Given the description of an element on the screen output the (x, y) to click on. 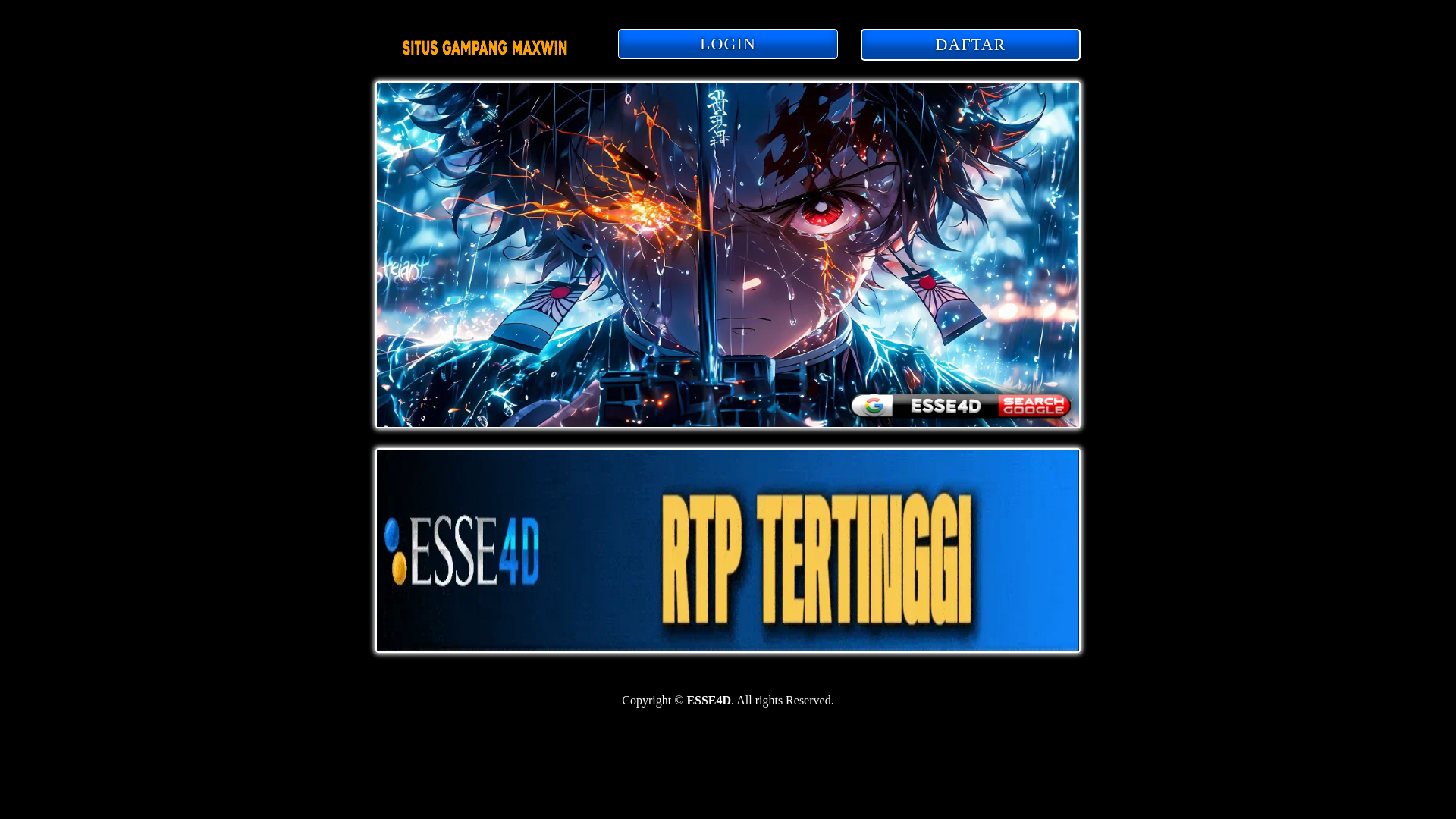
DAFTAR (970, 44)
LOGIN (727, 43)
LOGIN (727, 44)
DAFTAR (970, 45)
